Given the description of an element on the screen output the (x, y) to click on. 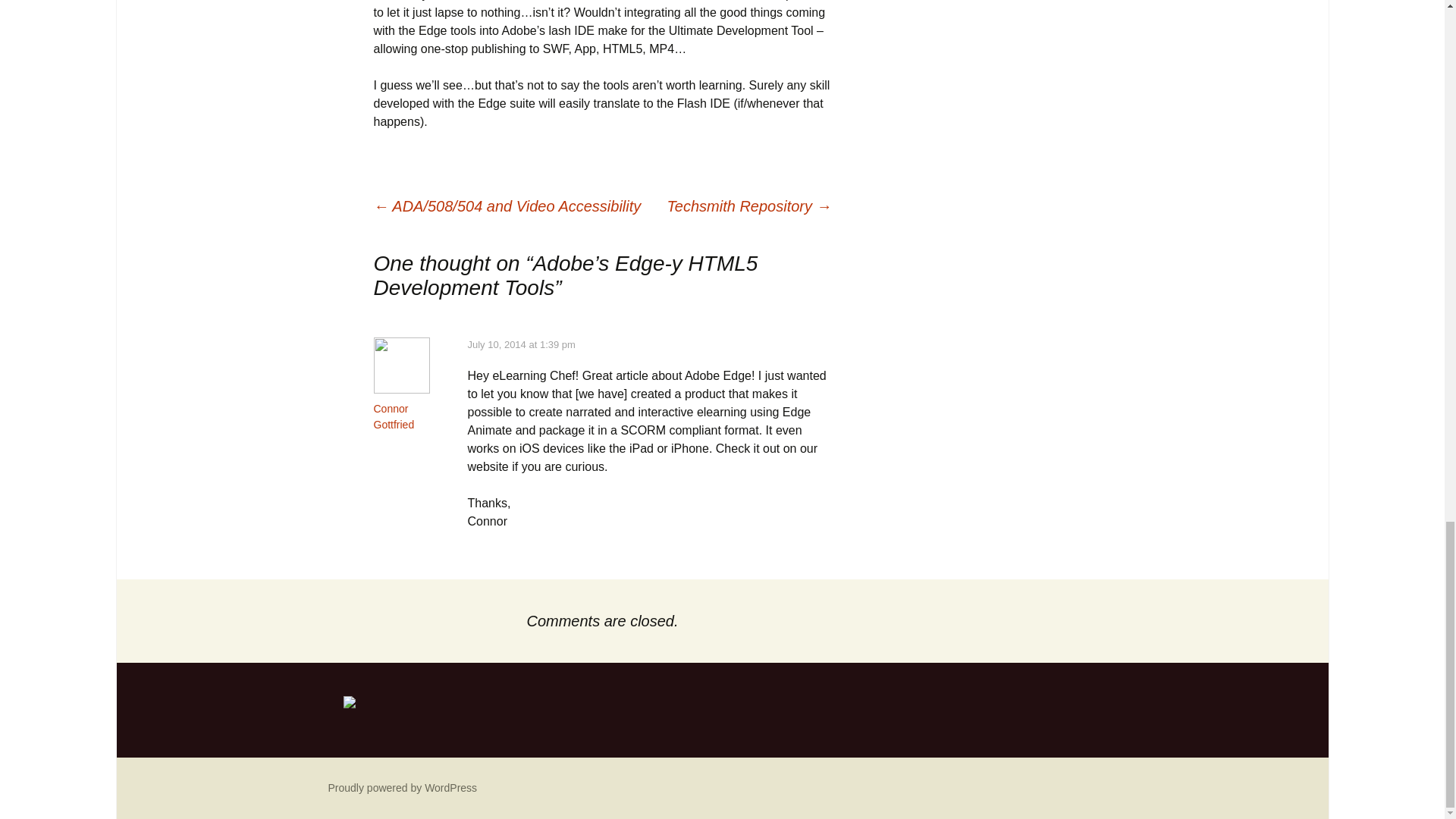
Connor Gottfried (392, 416)
July 10, 2014 at 1:39 pm (521, 344)
